Given the description of an element on the screen output the (x, y) to click on. 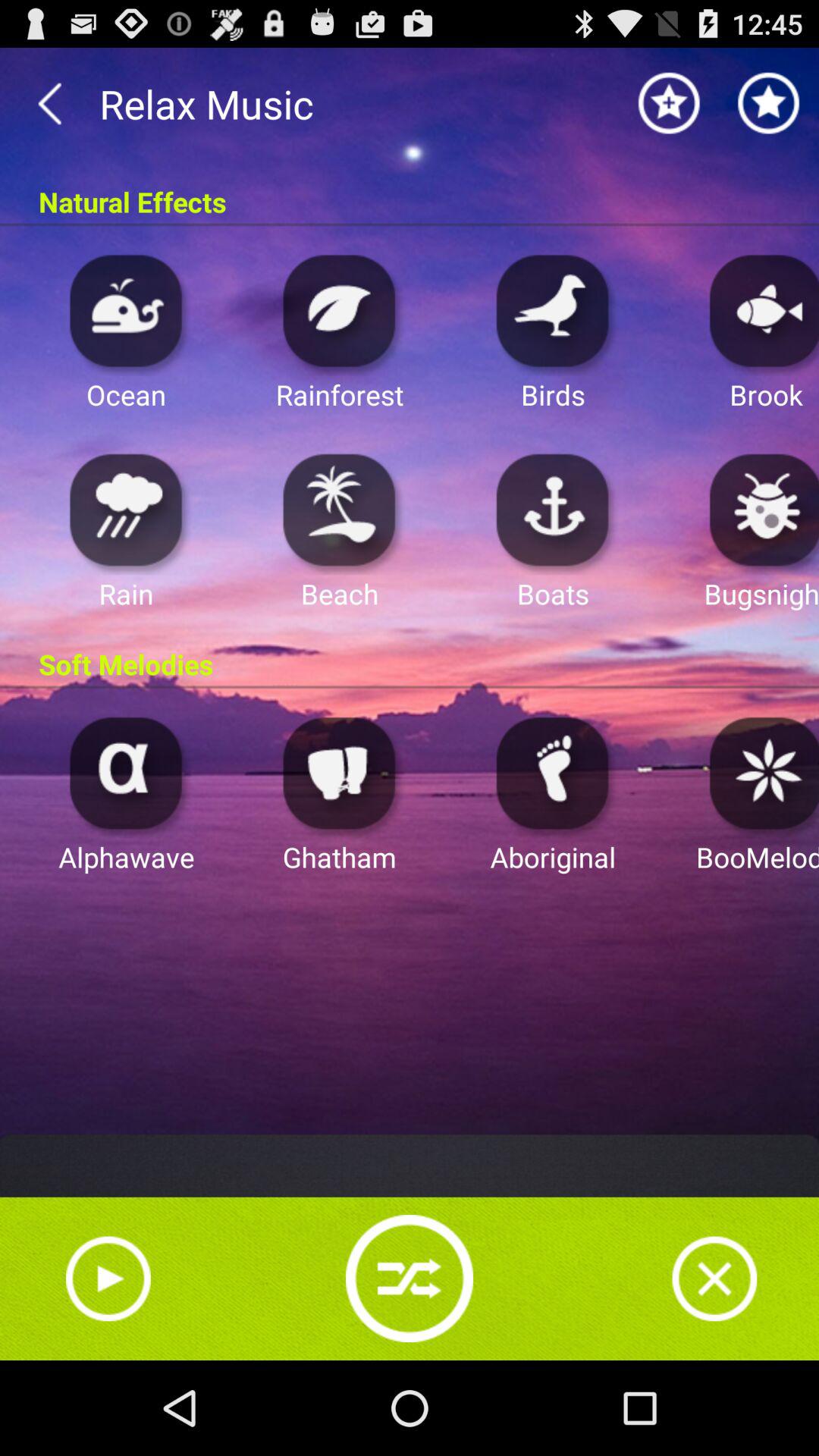
share the article (409, 1278)
